Given the description of an element on the screen output the (x, y) to click on. 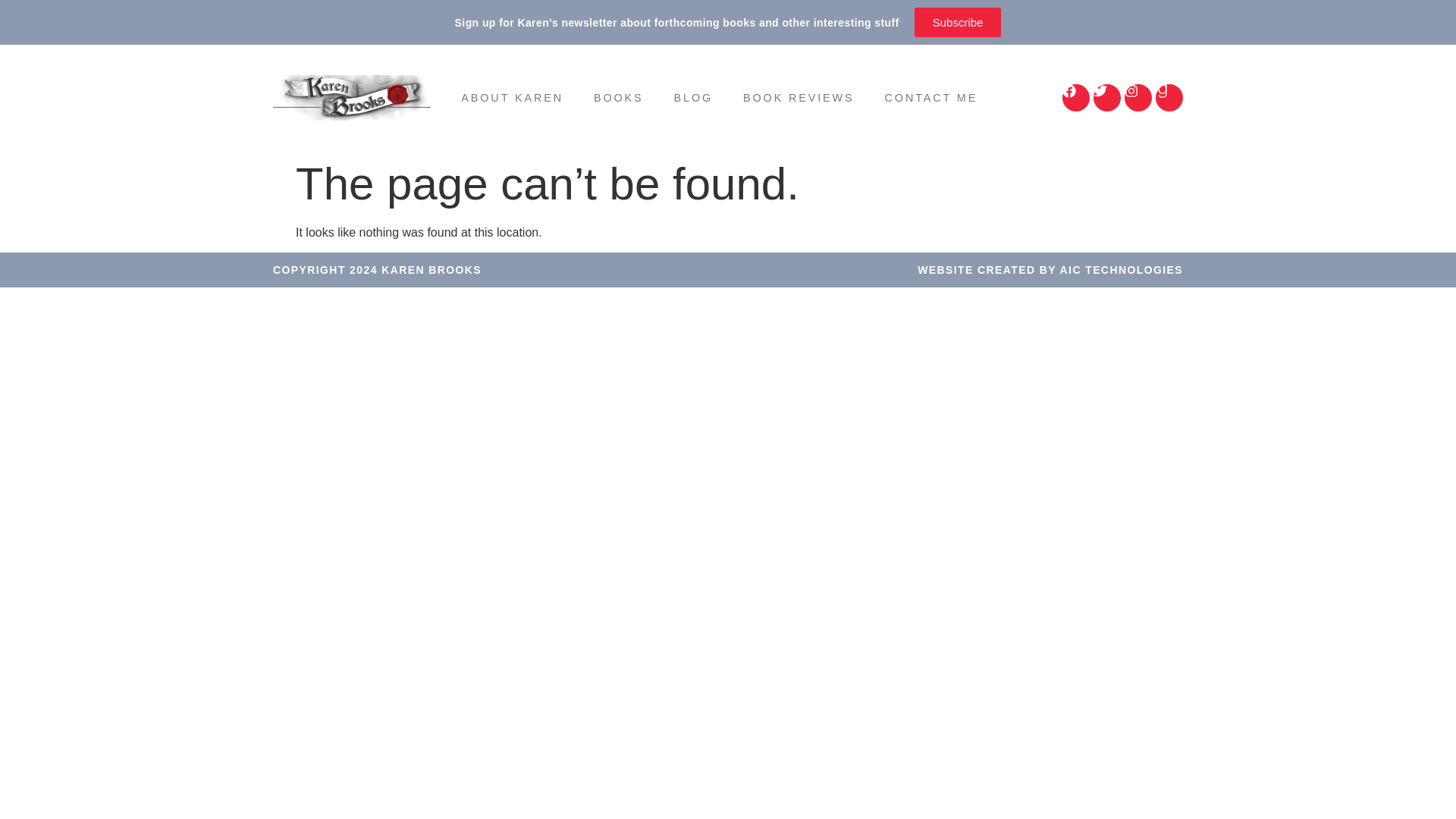
Subscribe (957, 21)
BLOG (694, 97)
ABOUT KAREN (511, 97)
BOOKS (618, 97)
BOOK REVIEWS (798, 97)
AIC TECHNOLOGIES (1120, 269)
CONTACT ME (930, 97)
